Given the description of an element on the screen output the (x, y) to click on. 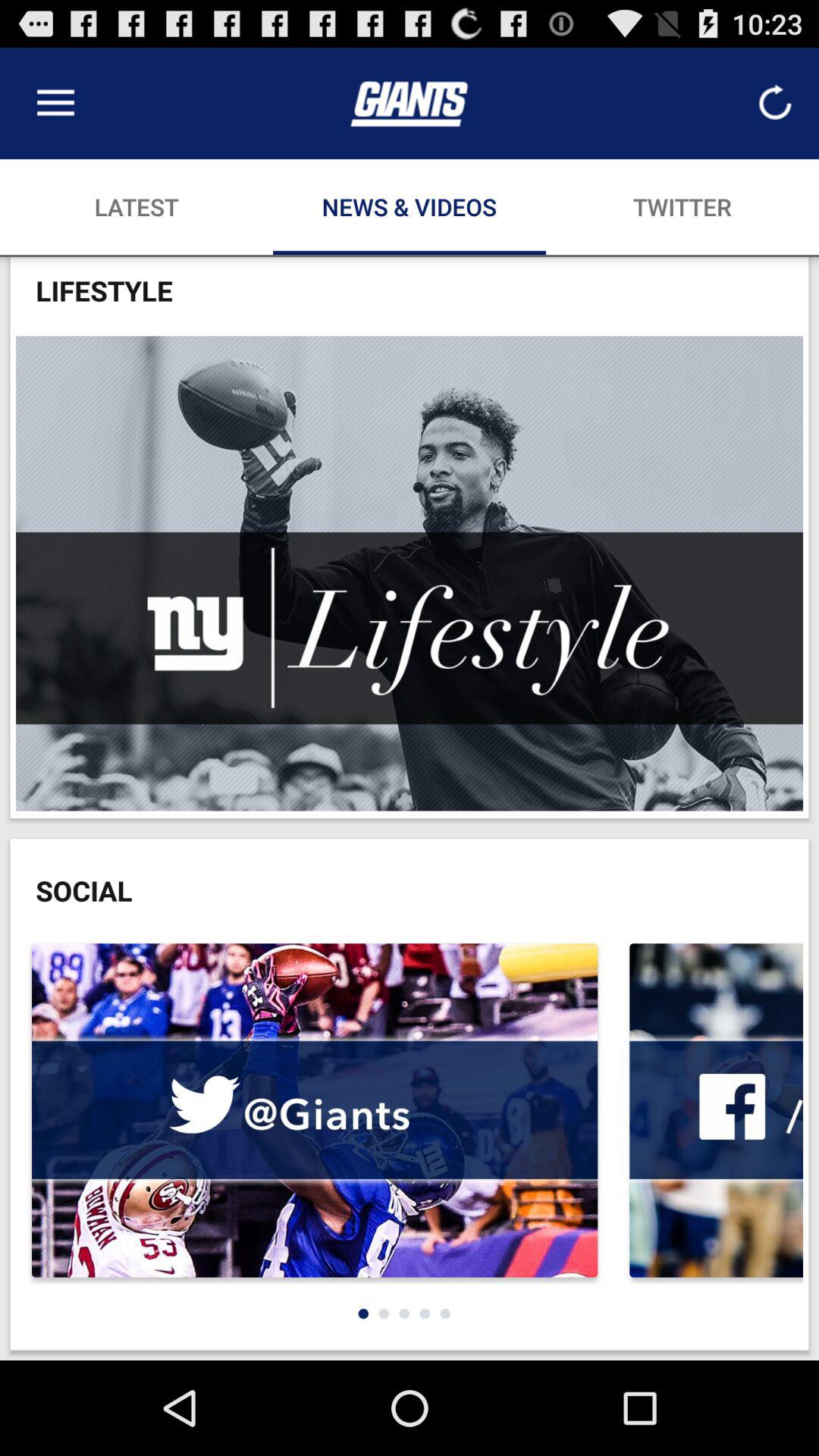
open the item above latest (55, 103)
